Given the description of an element on the screen output the (x, y) to click on. 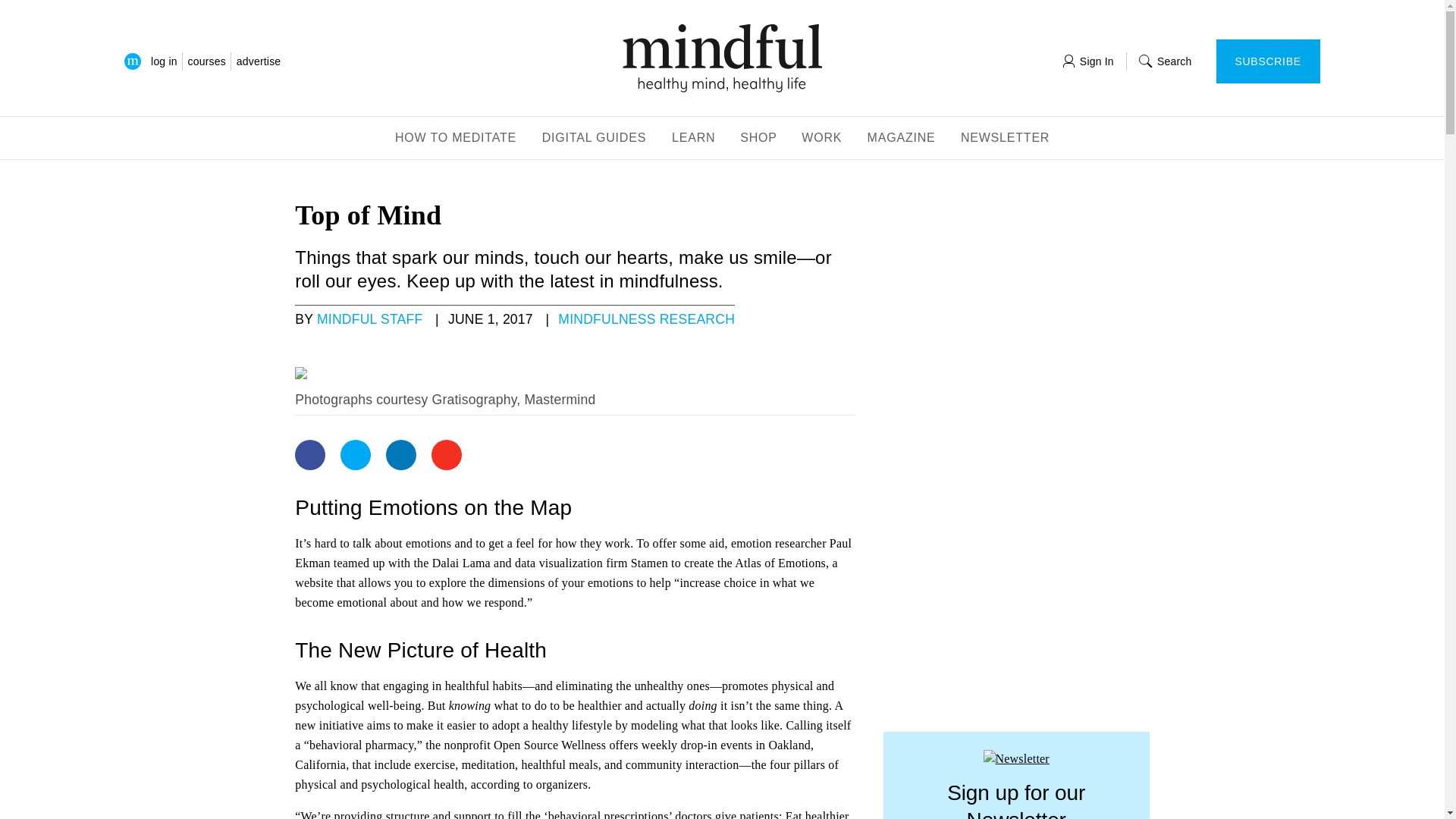
HOW TO MEDITATE (455, 139)
DIGITAL GUIDES (594, 139)
Search (1165, 60)
courses (206, 60)
SHOP (758, 139)
LEARN (693, 139)
log in (164, 60)
SUBSCRIBE (1267, 61)
Sign In (1087, 60)
advertise (258, 60)
